Given the description of an element on the screen output the (x, y) to click on. 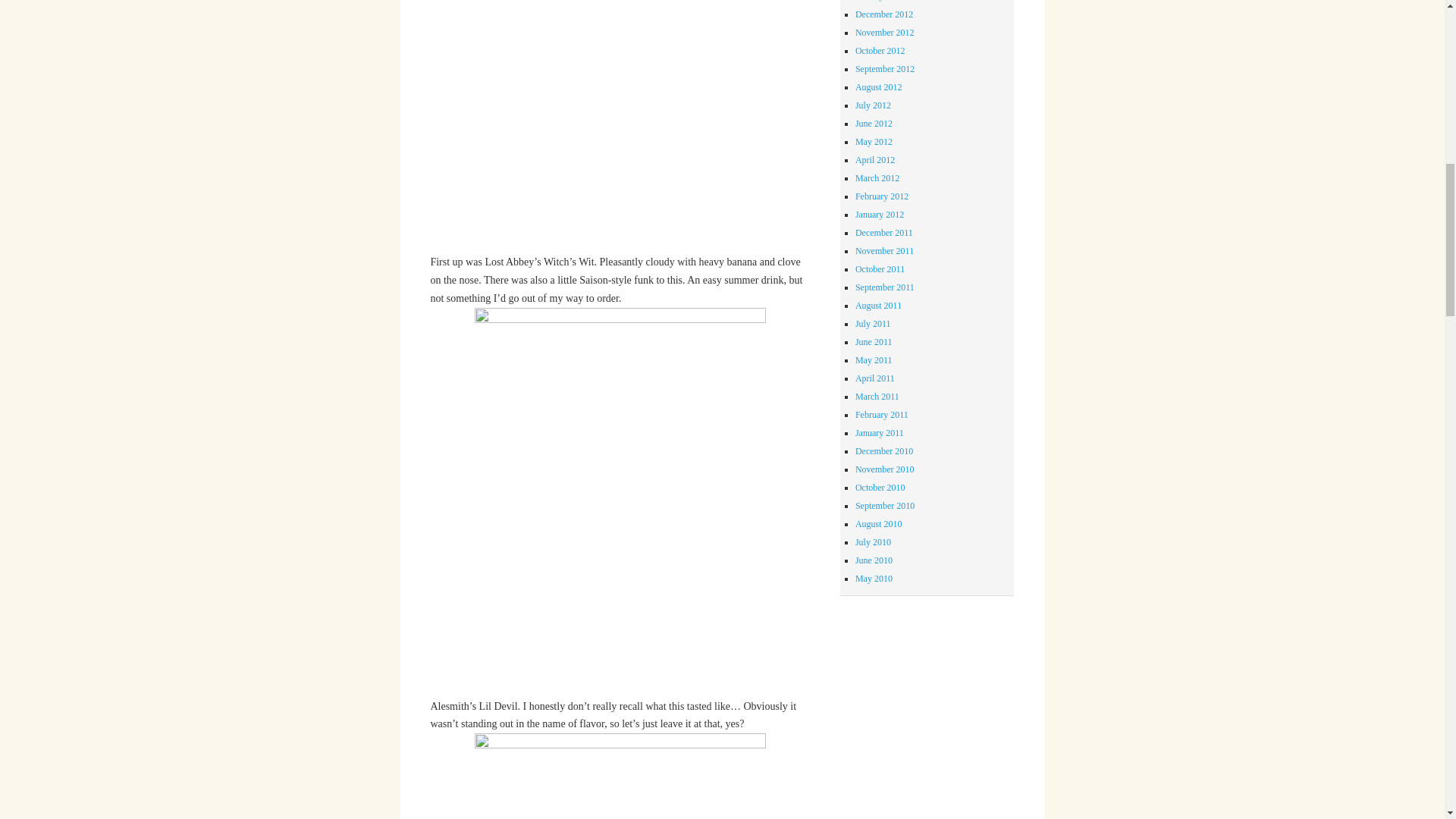
AM3 (619, 776)
AM1 (619, 125)
